Given the description of an element on the screen output the (x, y) to click on. 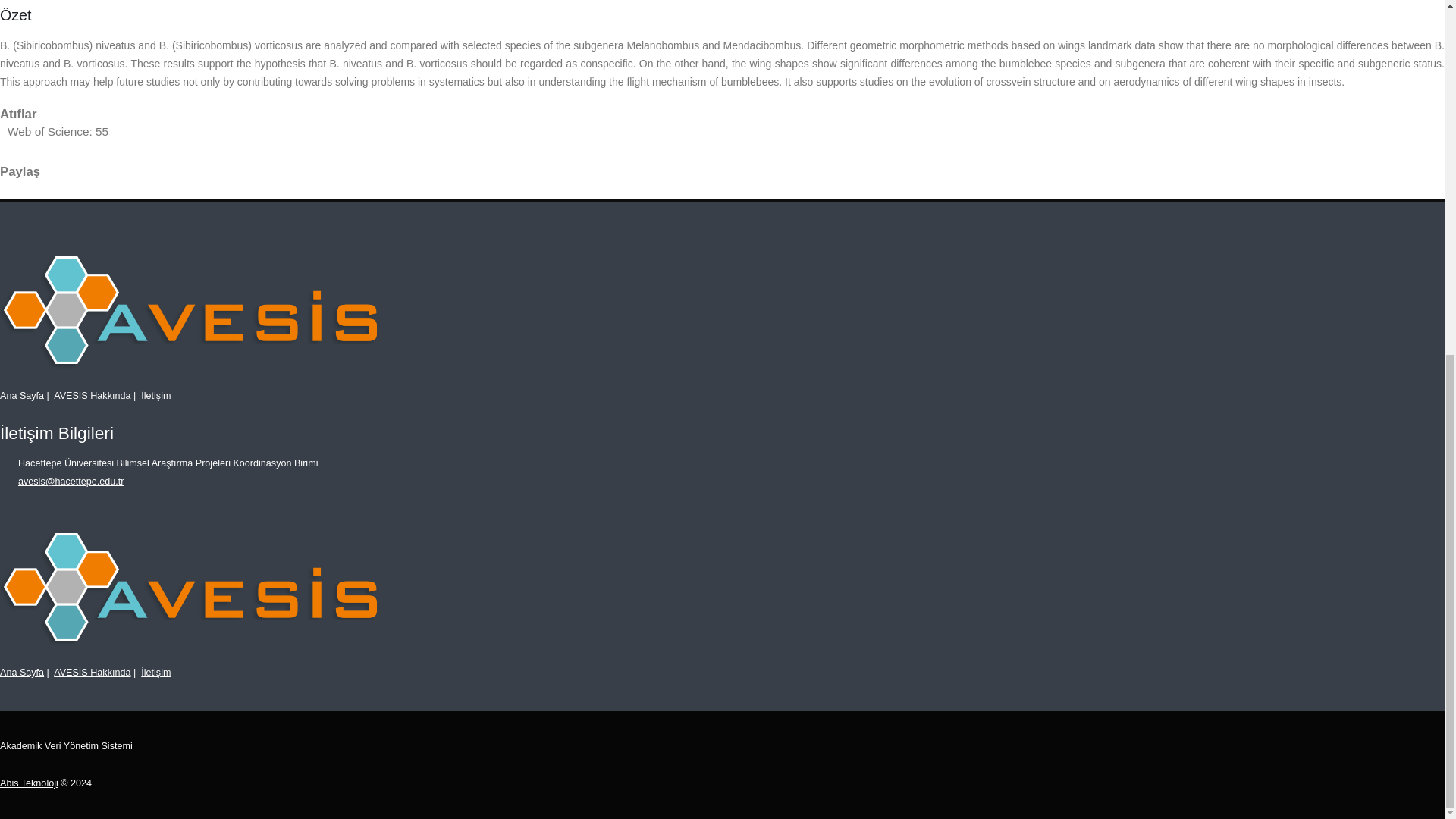
Ana Sayfa (21, 672)
Ana Sayfa (21, 395)
Abis Teknoloji (29, 783)
